Given the description of an element on the screen output the (x, y) to click on. 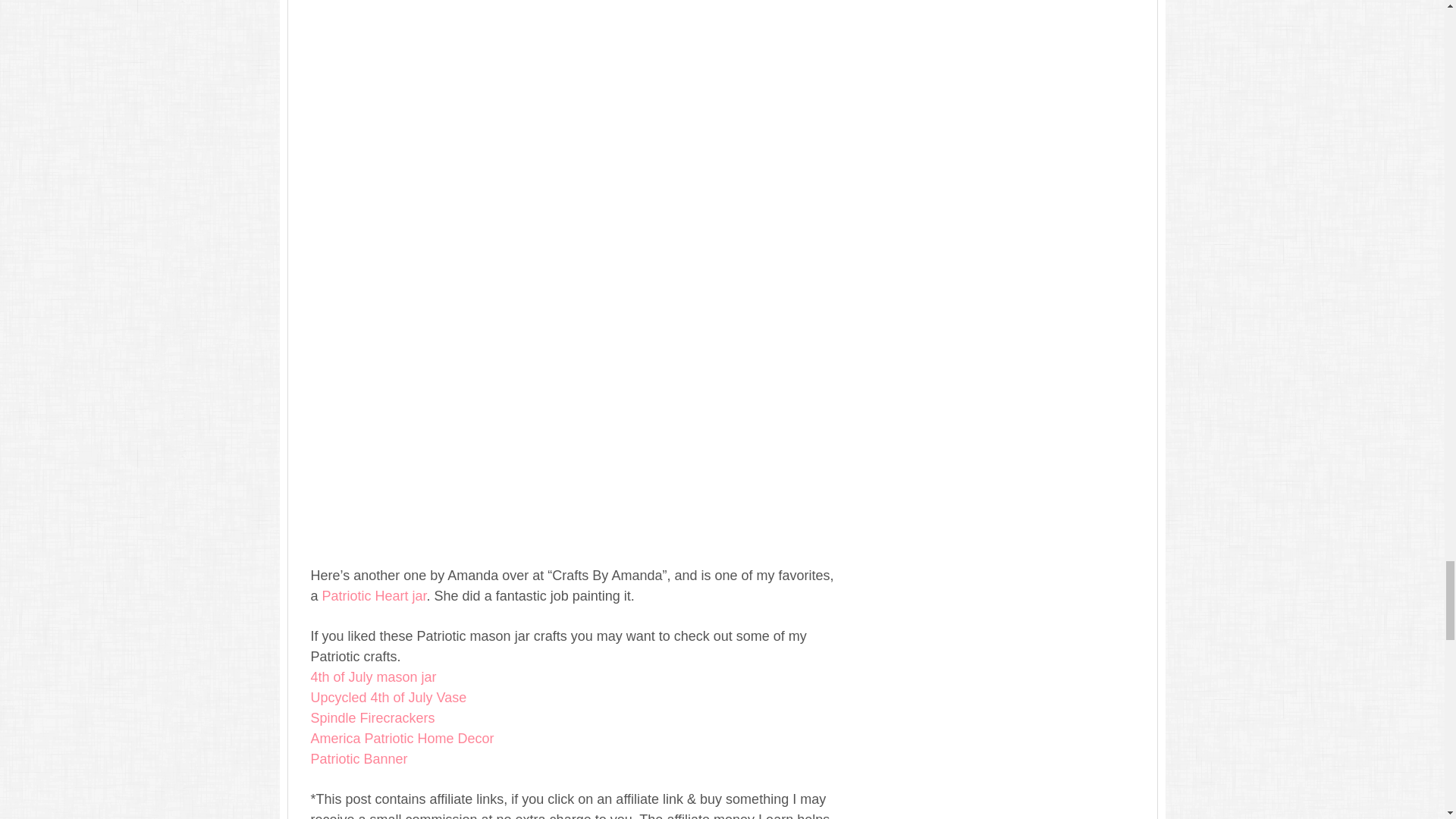
4th of July mason jar (373, 676)
America Patriotic Home Decor (403, 738)
Upcycled 4th of July Vase (389, 697)
Patriotic Banner (359, 758)
Patriotic Heart jar (373, 595)
Spindle Firecrackers (373, 717)
